Given the description of an element on the screen output the (x, y) to click on. 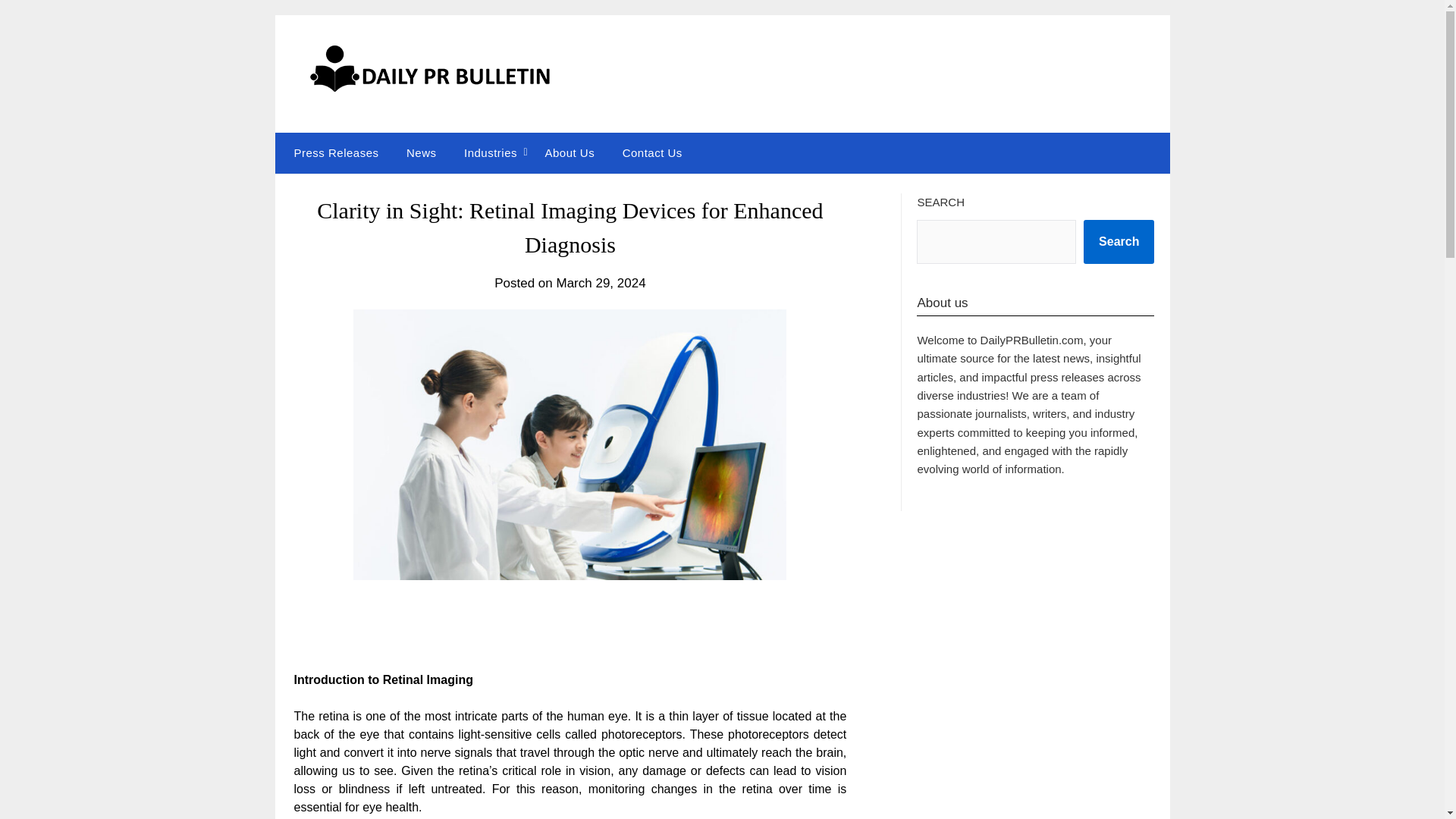
Contact Us (652, 152)
News (421, 152)
Industries (490, 152)
Search (1118, 241)
Press Releases (332, 152)
About Us (569, 152)
